Given the description of an element on the screen output the (x, y) to click on. 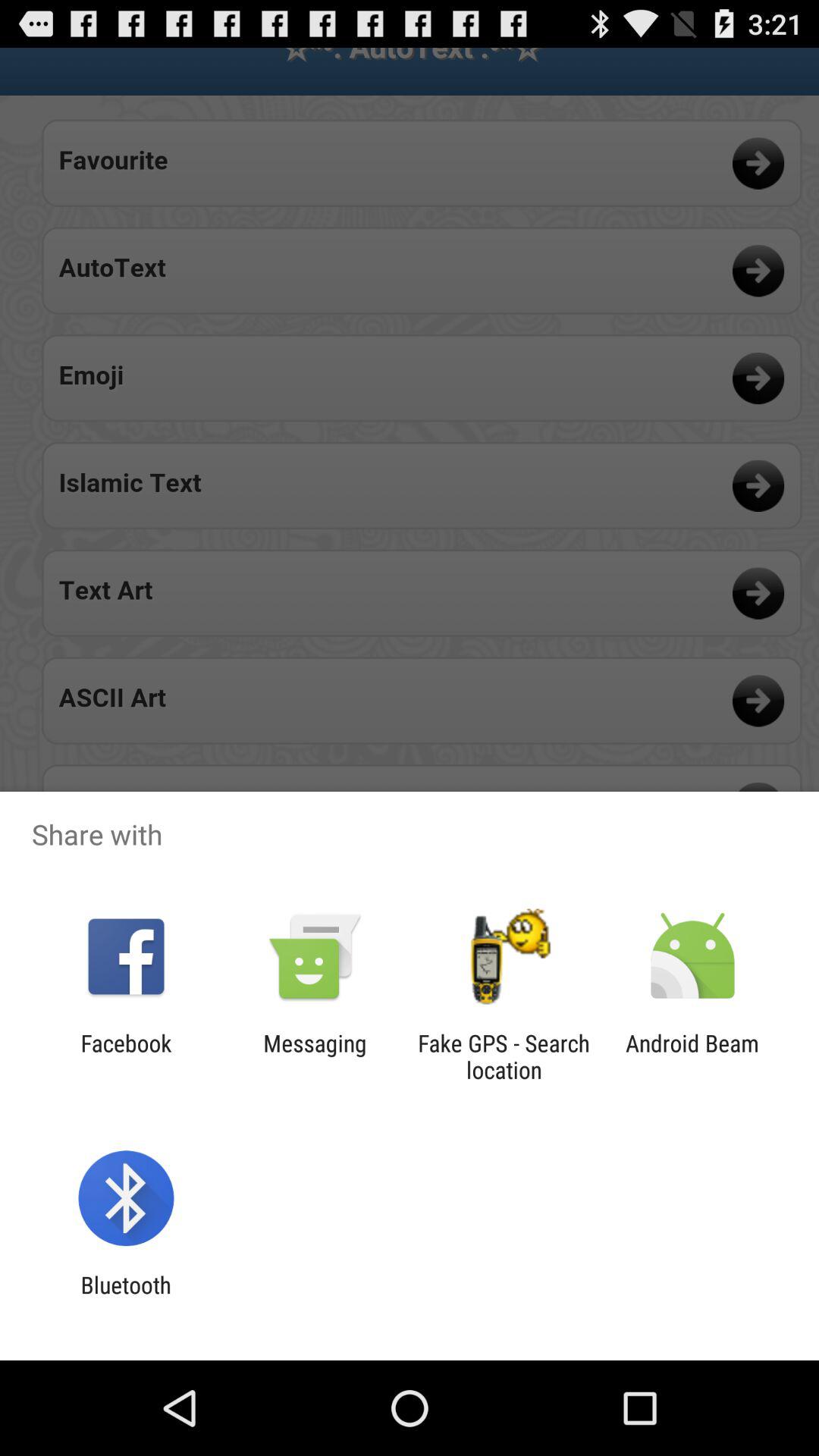
scroll to the facebook icon (125, 1056)
